Given the description of an element on the screen output the (x, y) to click on. 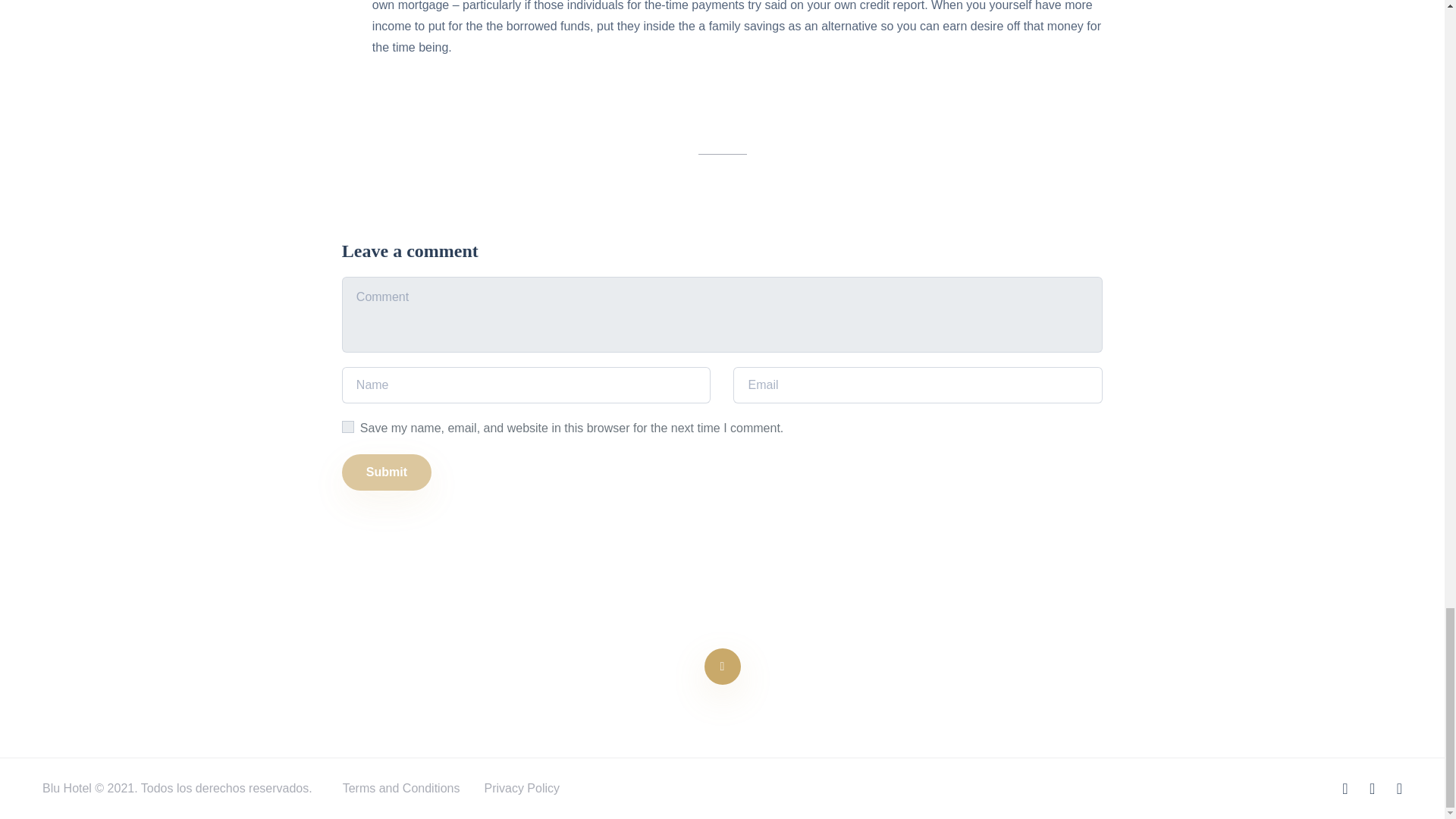
Submit (386, 472)
Terms and Conditions (401, 788)
Privacy Policy (521, 788)
